Given the description of an element on the screen output the (x, y) to click on. 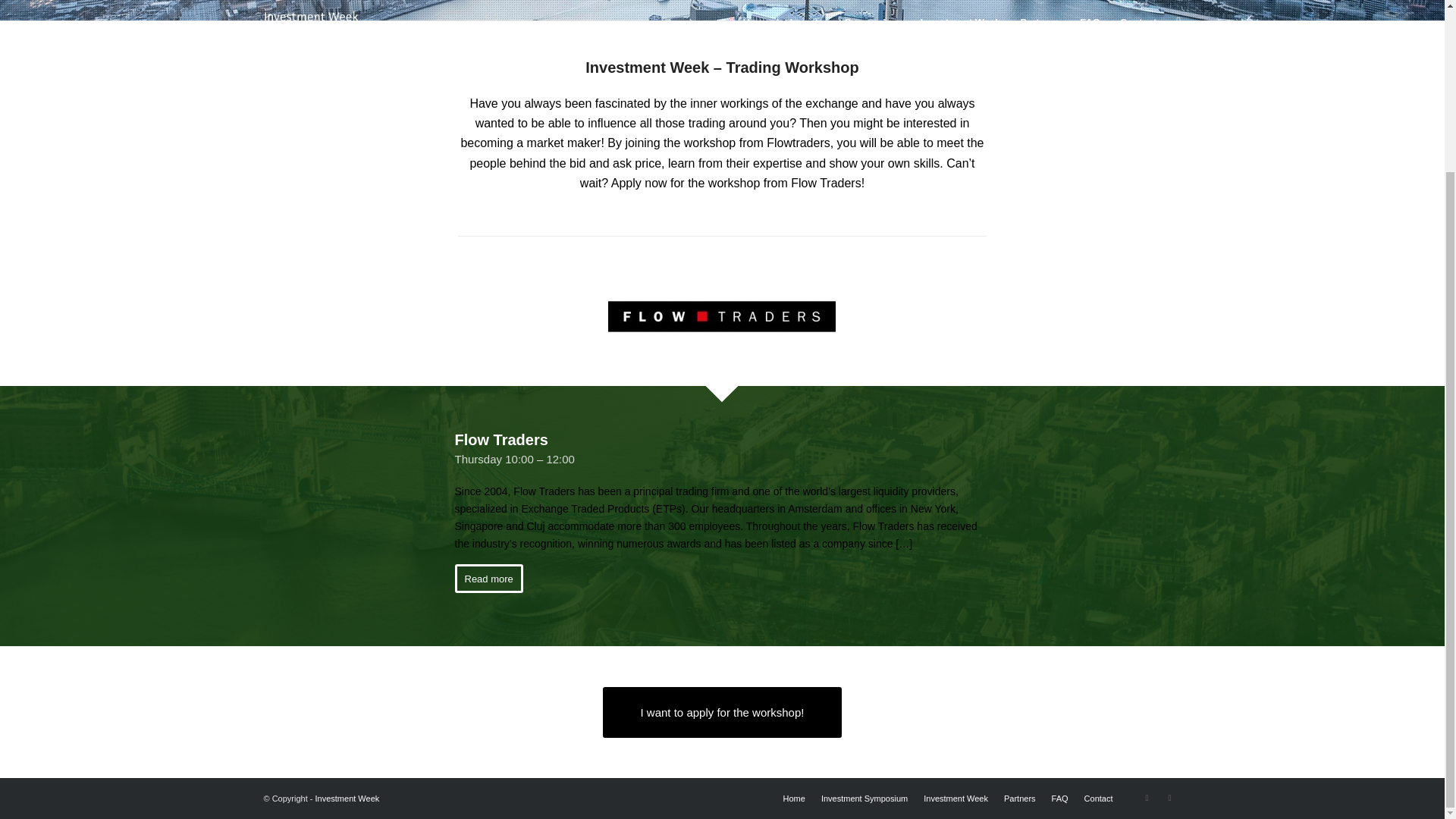
Mail (1169, 797)
Investment Symposium (864, 798)
Contact (1098, 798)
FAQ (1059, 798)
Investment Week (955, 798)
Read more (488, 578)
Partners (1019, 798)
Facebook (1146, 797)
Investment Week (347, 798)
Home (794, 798)
I want to apply for the workshop! (722, 712)
